Given the description of an element on the screen output the (x, y) to click on. 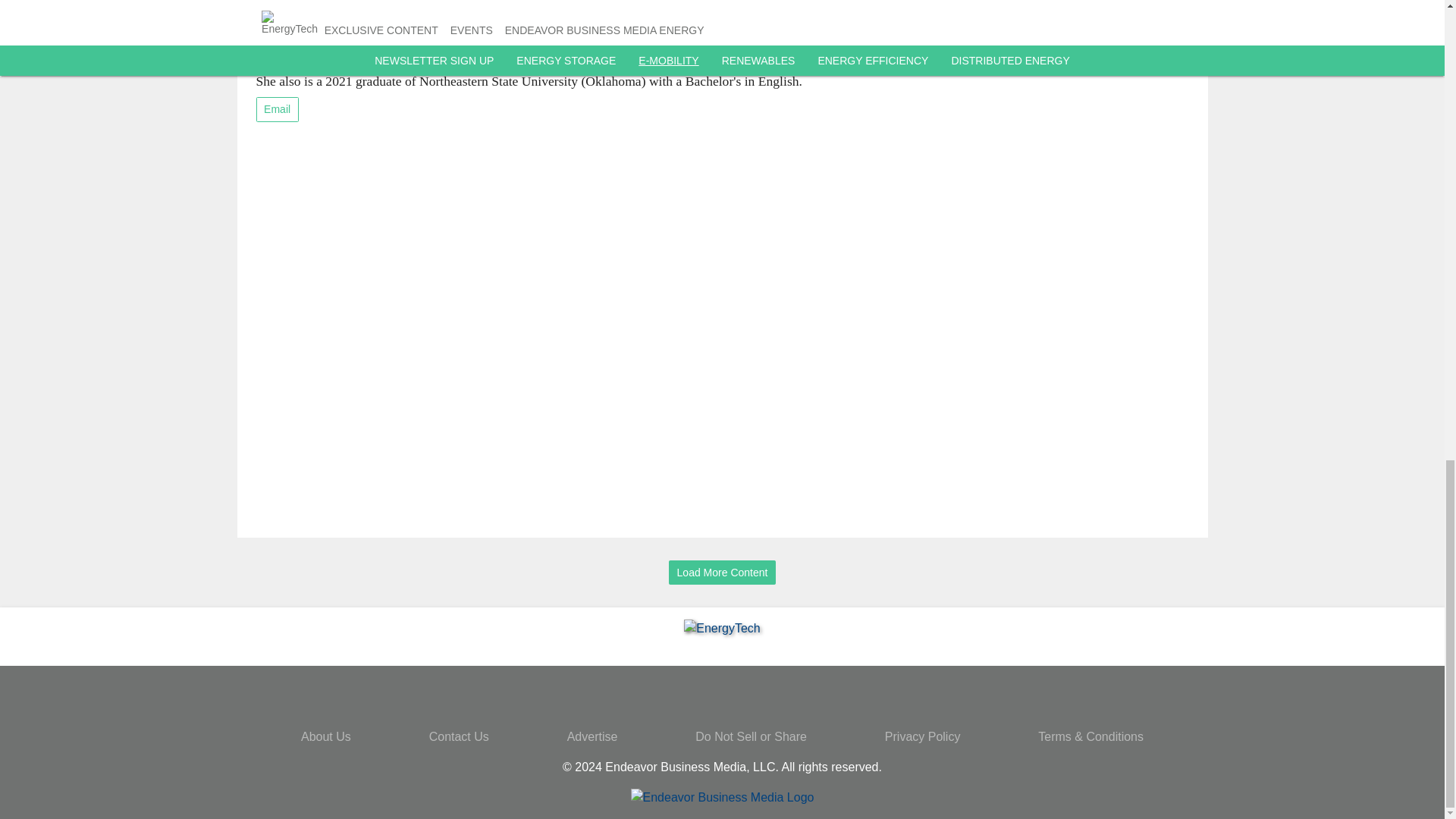
Load More Content (722, 572)
Email (277, 109)
